Given the description of an element on the screen output the (x, y) to click on. 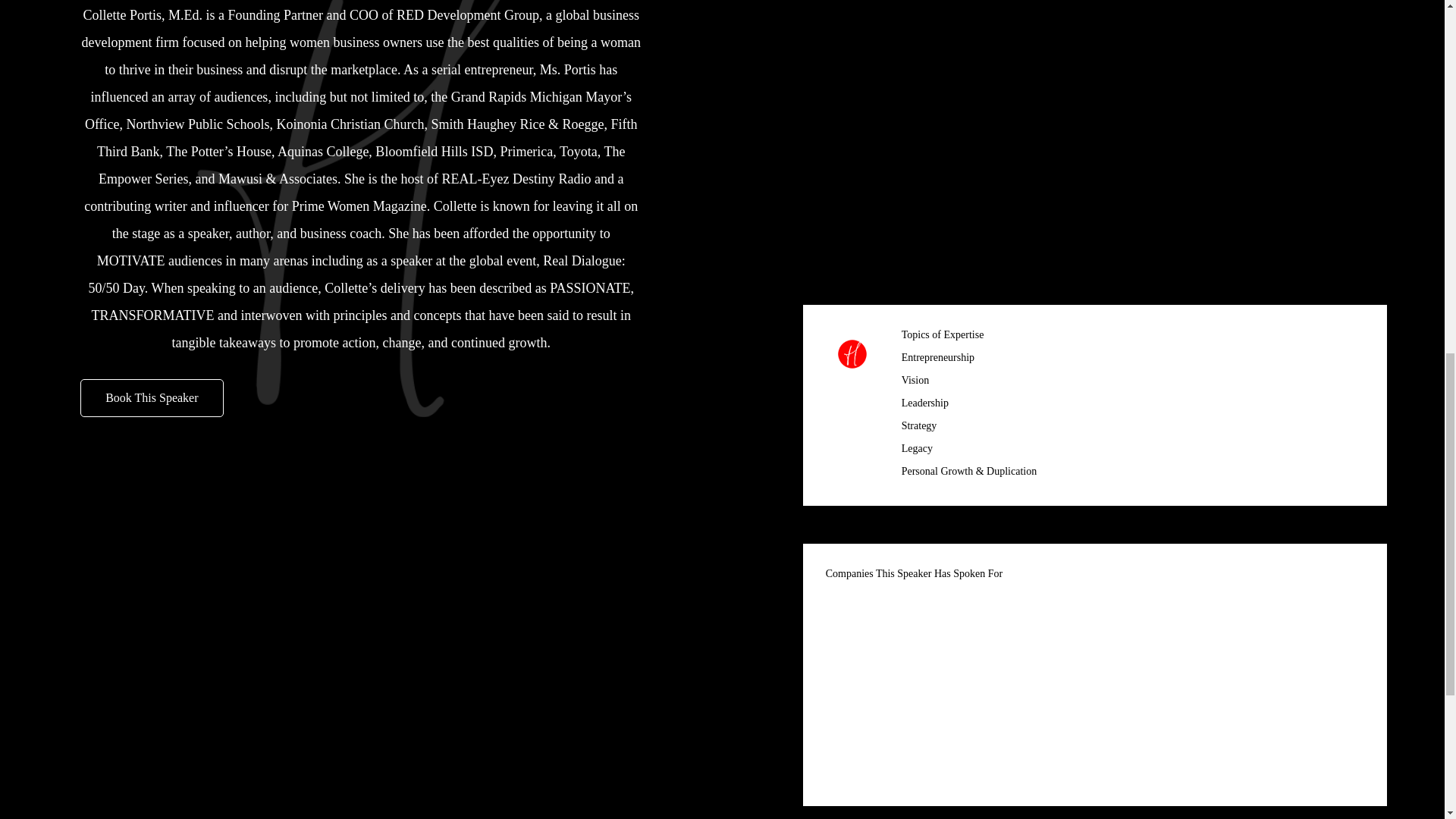
Book This Speaker (151, 397)
